Given the description of an element on the screen output the (x, y) to click on. 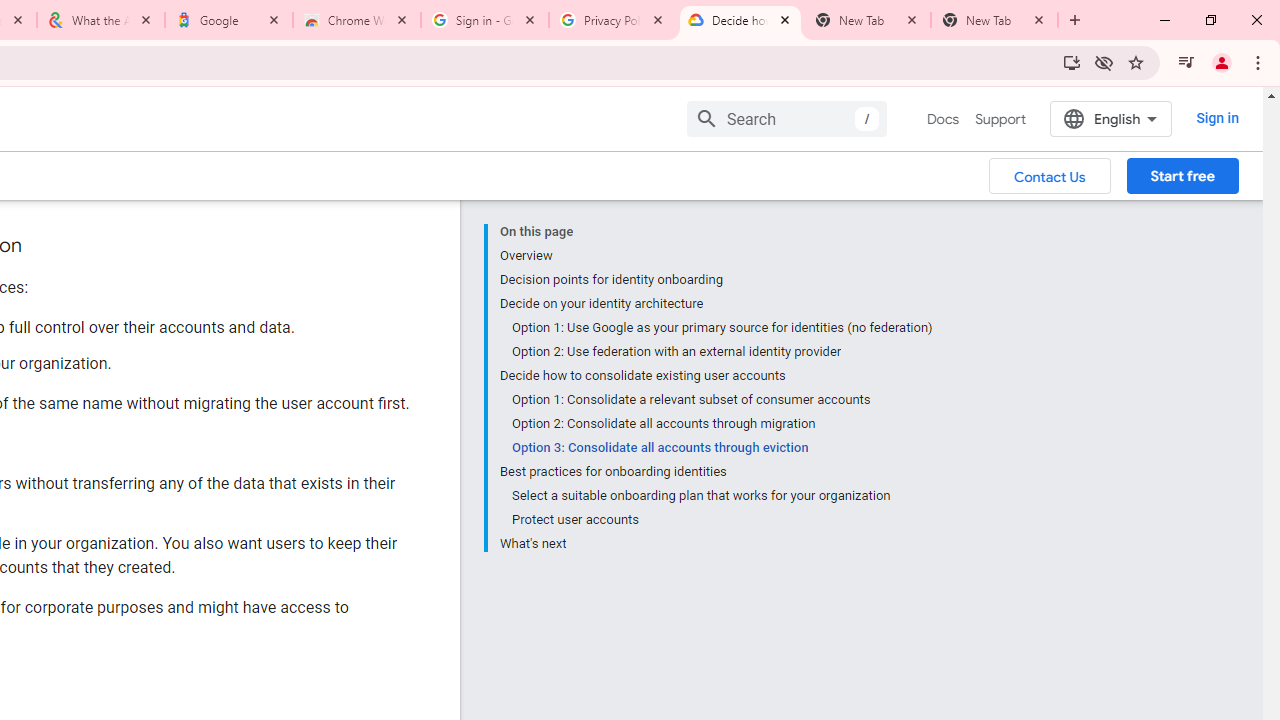
Option 2: Consolidate all accounts through migration (721, 423)
What's next (716, 542)
Sign in (1216, 118)
Contact Us (1050, 175)
Docs, selected (942, 119)
Overview (716, 255)
Install Google Cloud (1071, 62)
